Given the description of an element on the screen output the (x, y) to click on. 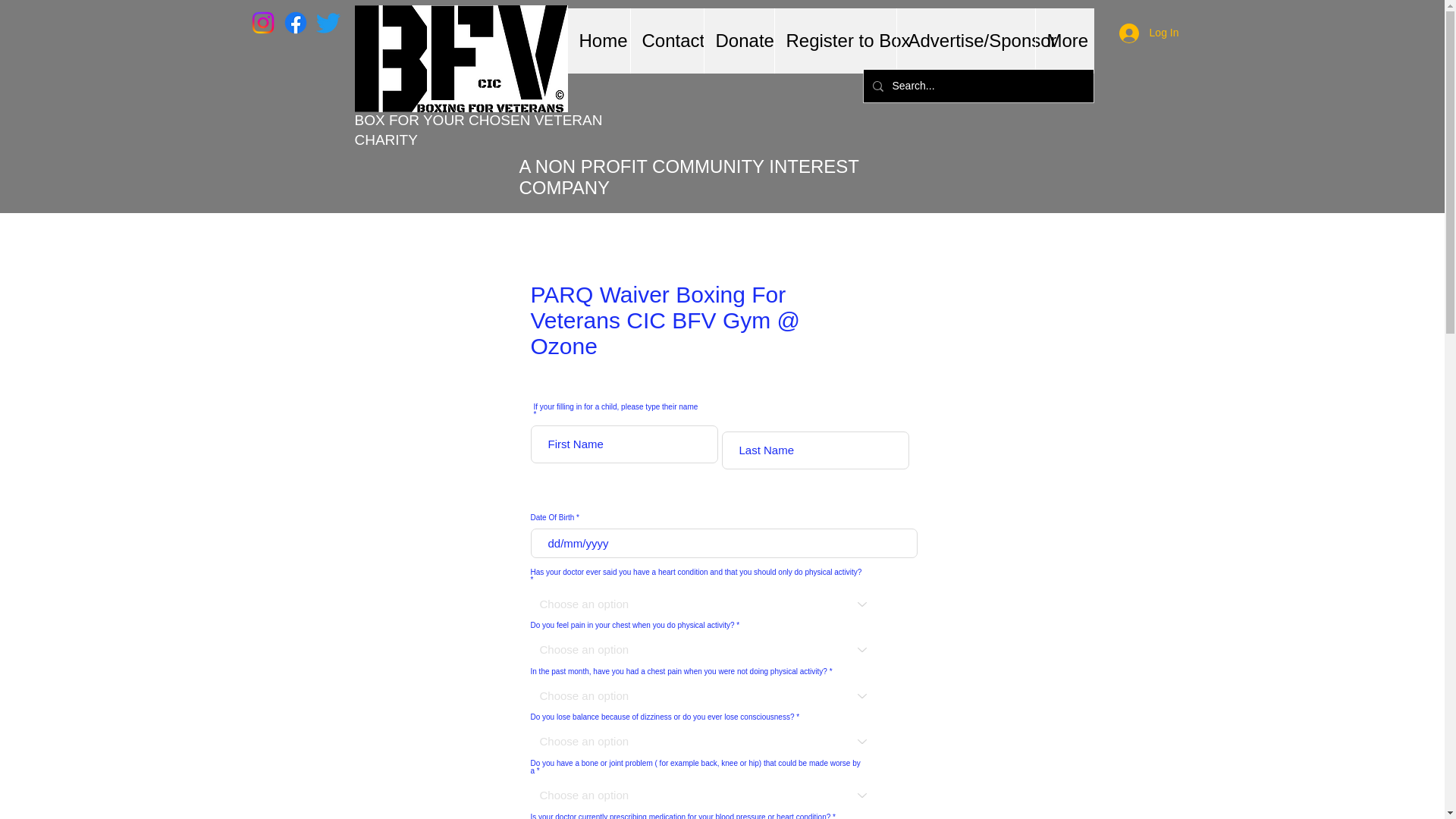
Log In (1148, 32)
Register to Box (834, 40)
BFV LOGO COPYRIGHT.png (461, 58)
Contact (665, 40)
Home (597, 40)
Donate (738, 40)
